Given the description of an element on the screen output the (x, y) to click on. 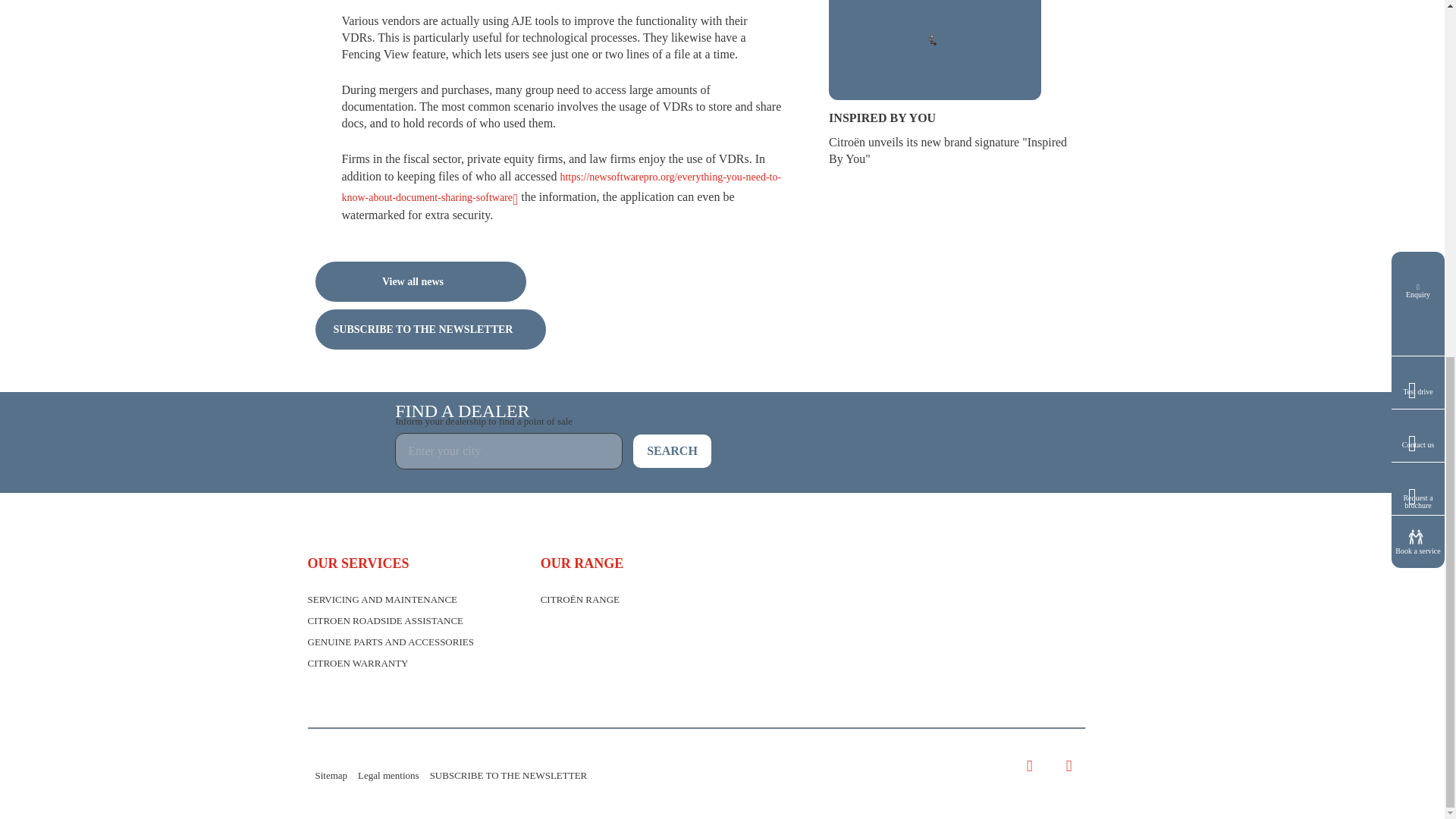
CITROEN ROADSIDE ASSISTANCE (385, 620)
SERVICING AND MAINTENANCE (382, 599)
View all news (420, 281)
CITROEN WARRANTY (358, 663)
SEARCH (672, 451)
GENUINE PARTS AND ACCESSORIES (390, 641)
GENUINE PARTS AND ACCESSORIES (390, 641)
CITROEN WARRANTY (358, 663)
SUBSCRIBE TO THE NEWSLETTER (431, 329)
SERVICING AND MAINTENANCE (382, 599)
CITROEN ROADSIDE ASSISTANCE (385, 620)
